Given the description of an element on the screen output the (x, y) to click on. 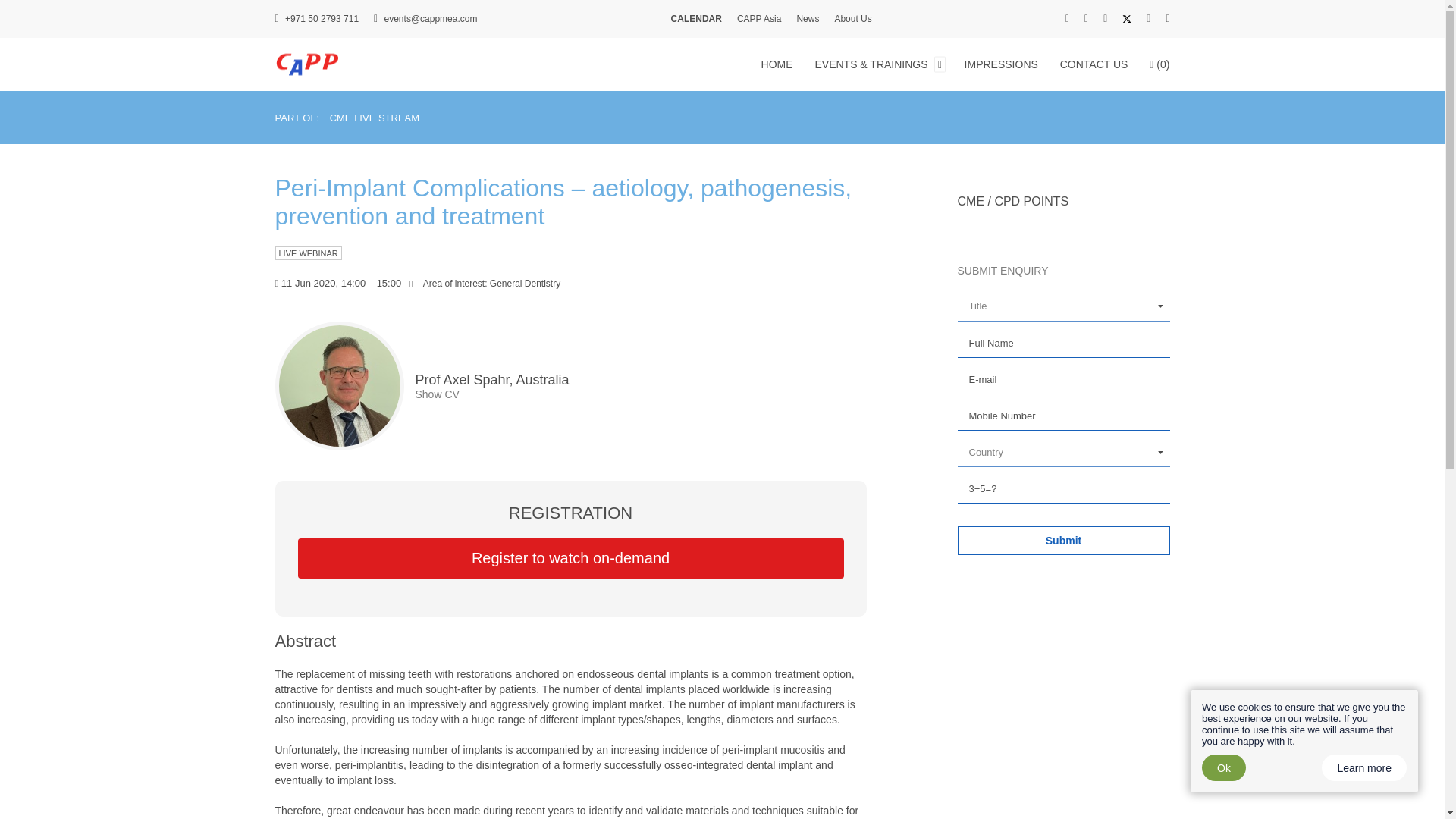
CALENDAR (696, 18)
CAPP Asia (758, 18)
HOME (781, 63)
IMPRESSIONS (1004, 63)
CONTACT US (1097, 63)
About Us (852, 18)
News (807, 18)
